Given the description of an element on the screen output the (x, y) to click on. 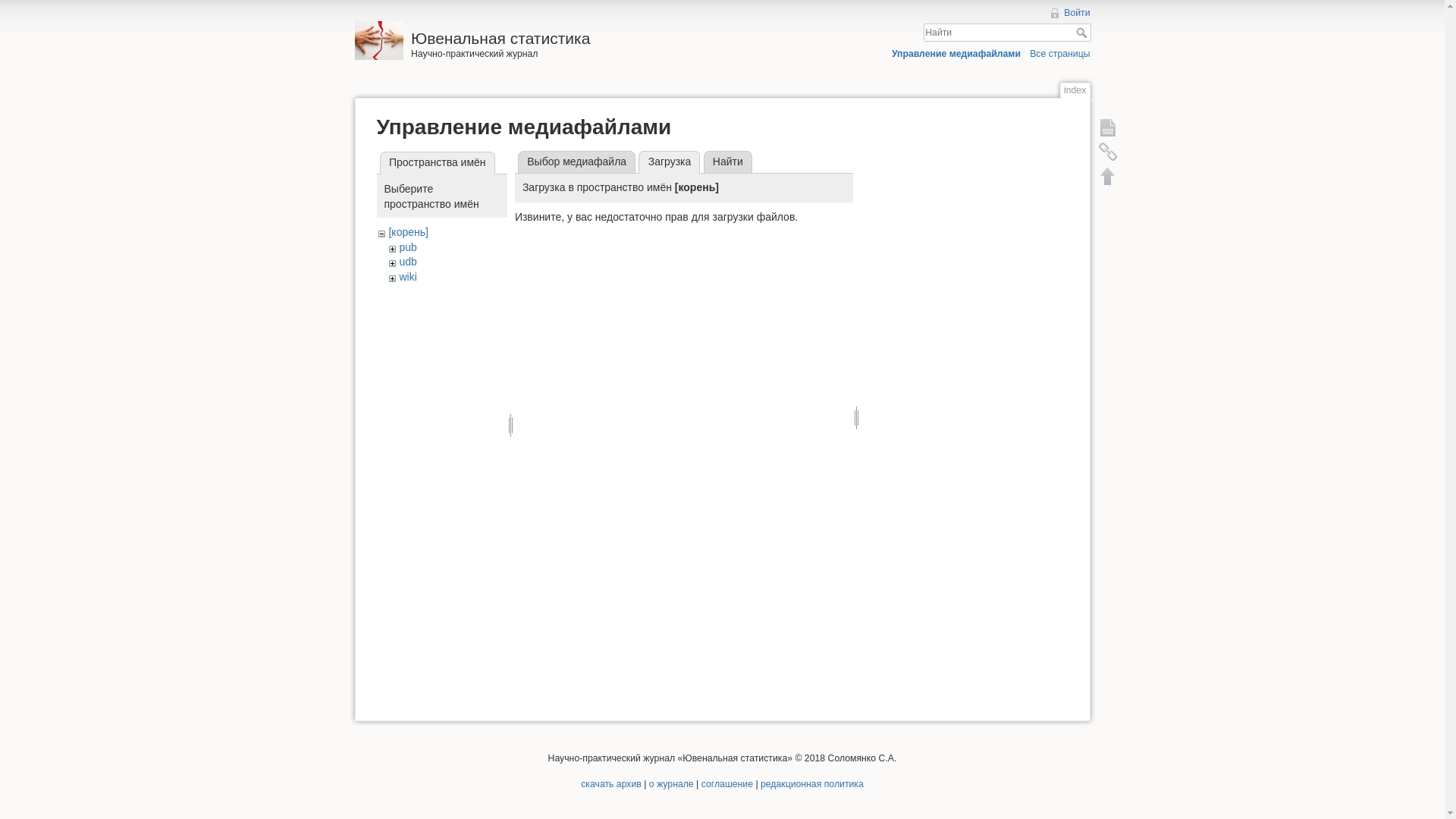
[F] Element type: hover (1007, 32)
pub Element type: text (407, 247)
udb Element type: text (407, 261)
wiki Element type: text (407, 276)
